Given the description of an element on the screen output the (x, y) to click on. 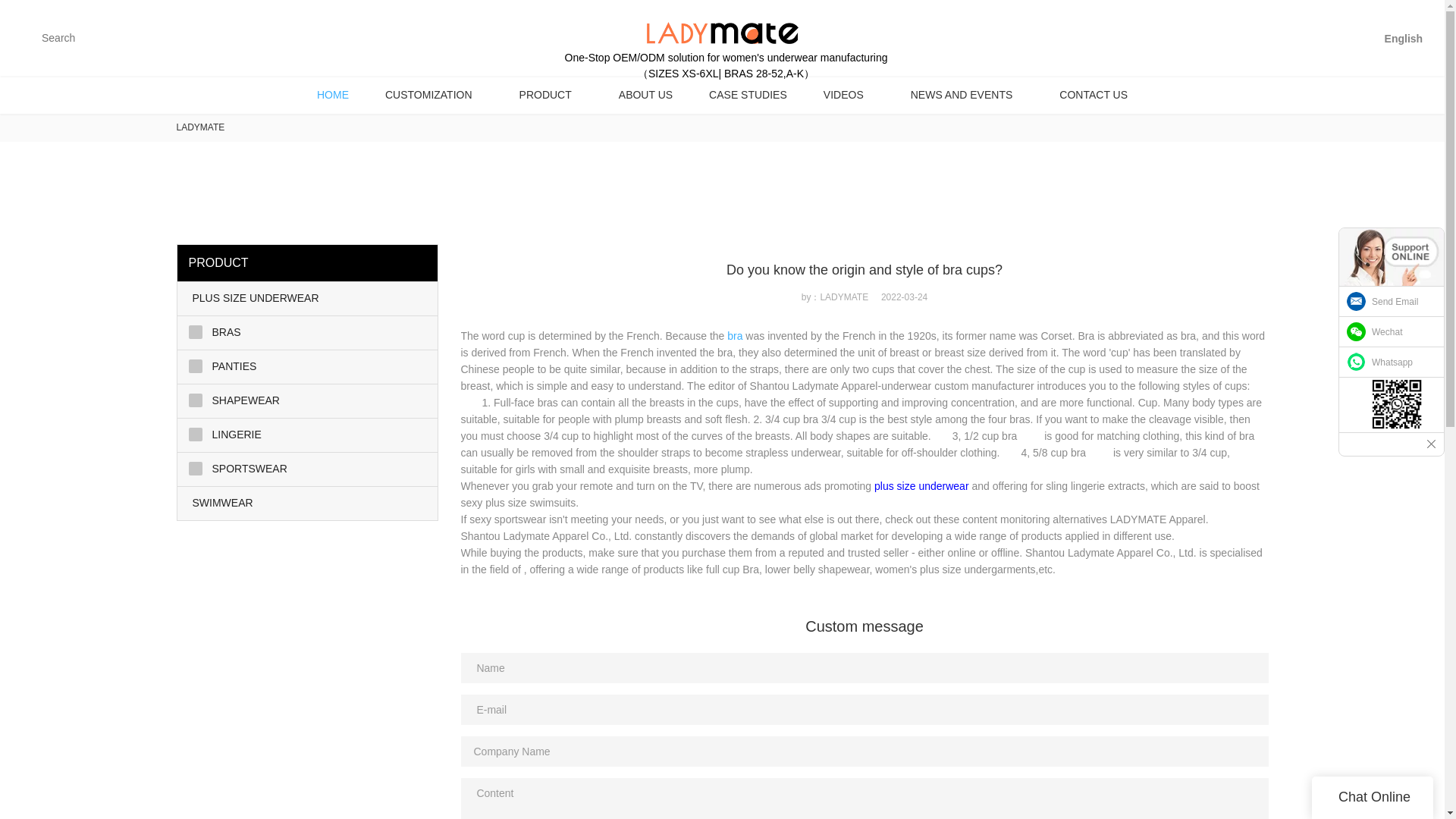
Whatsapp (1391, 362)
Send Email (1391, 301)
PRODUCT (549, 94)
CUSTOMIZATION (433, 94)
HOME (332, 94)
Wechat (1391, 331)
